Given the description of an element on the screen output the (x, y) to click on. 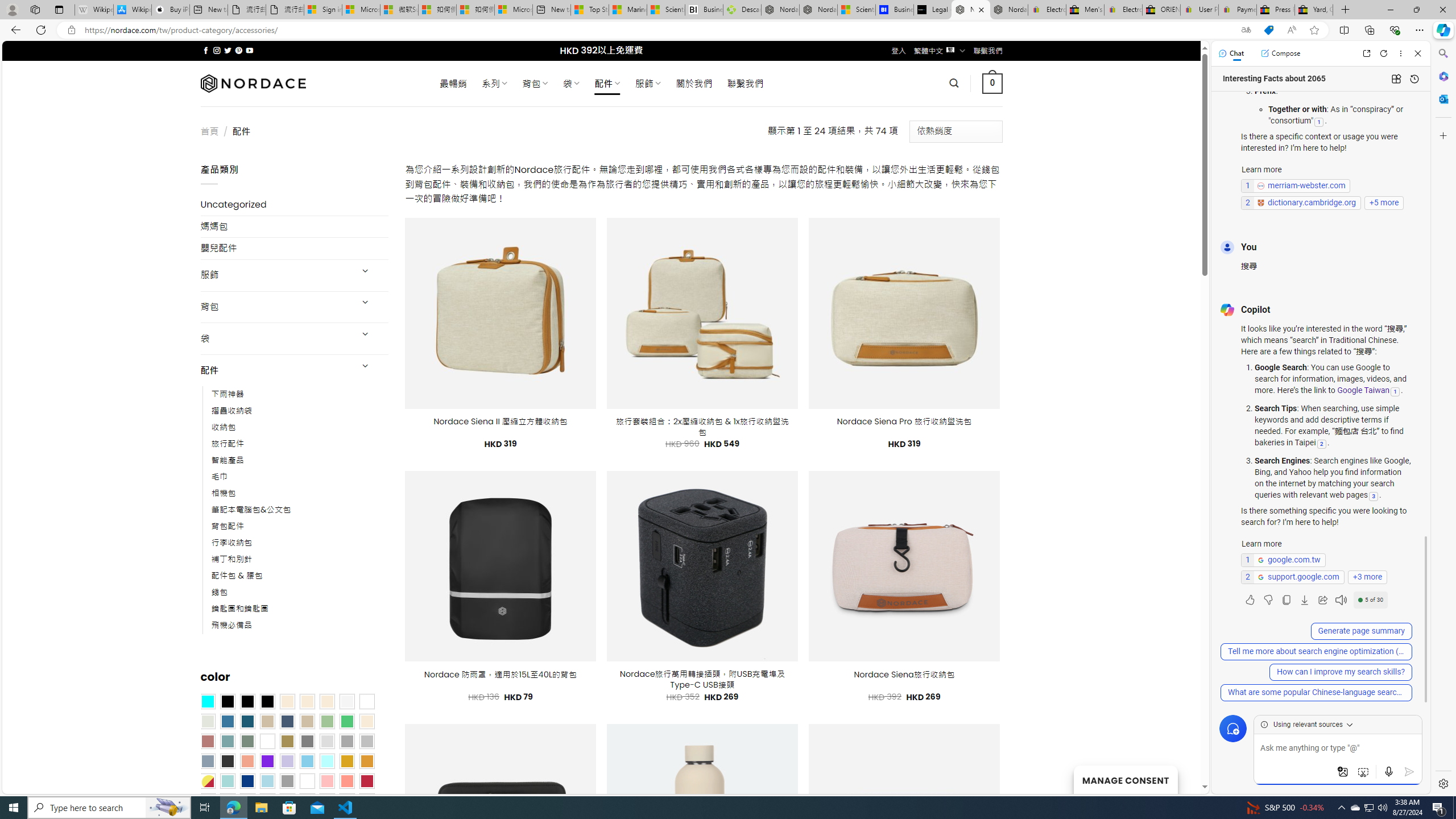
Outlook (1442, 98)
Follow on Instagram (216, 50)
MANAGE CONSENT (1125, 779)
Open link in new tab (1366, 53)
Uncategorized (294, 204)
